Given the description of an element on the screen output the (x, y) to click on. 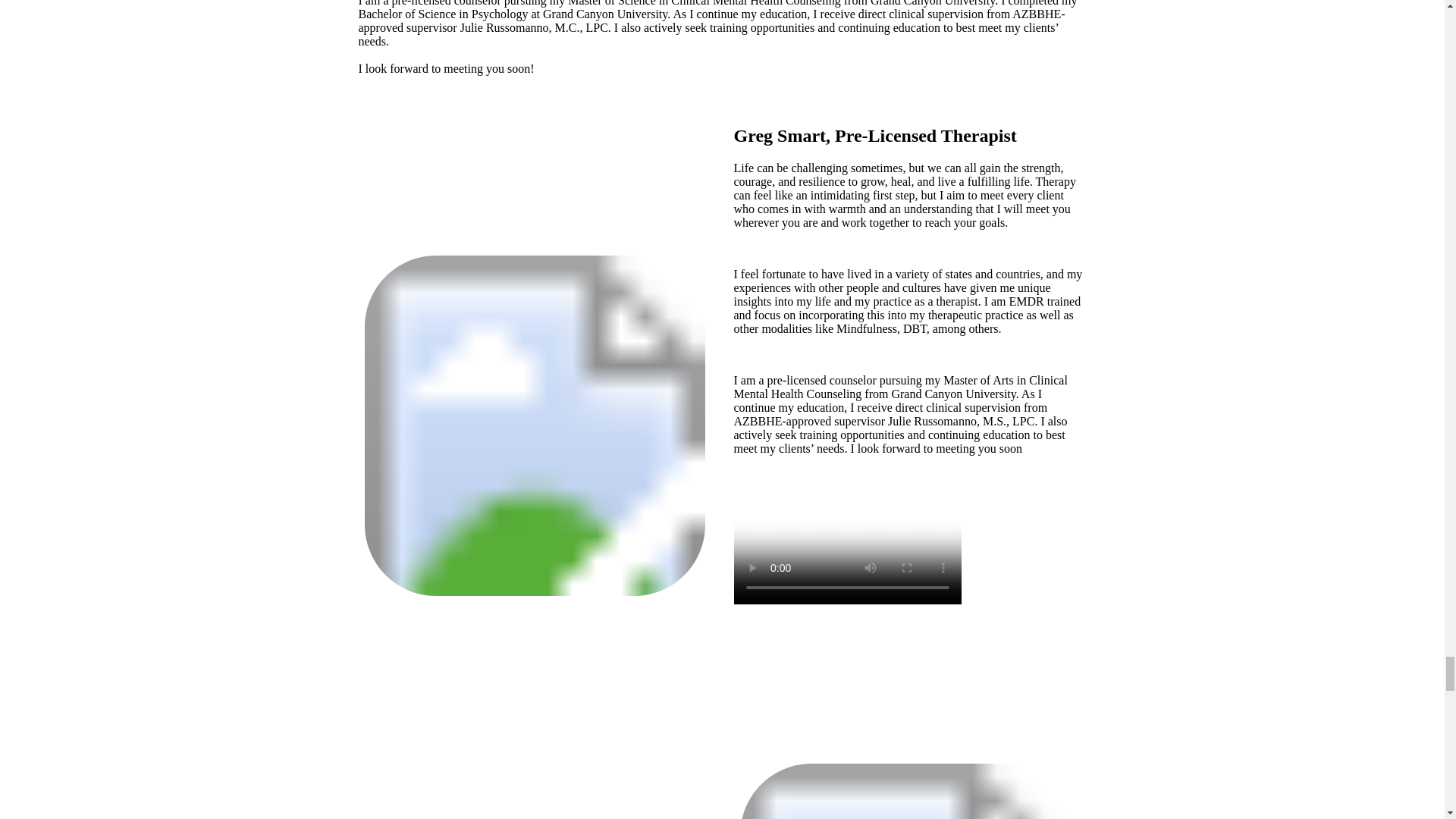
Rachel Dickens - Phoenix, AZ - Infinite Healing and Wellness (909, 791)
Greg Smart - Phoenix, AZ - Infinite Healing and Wellness (534, 425)
